Given the description of an element on the screen output the (x, y) to click on. 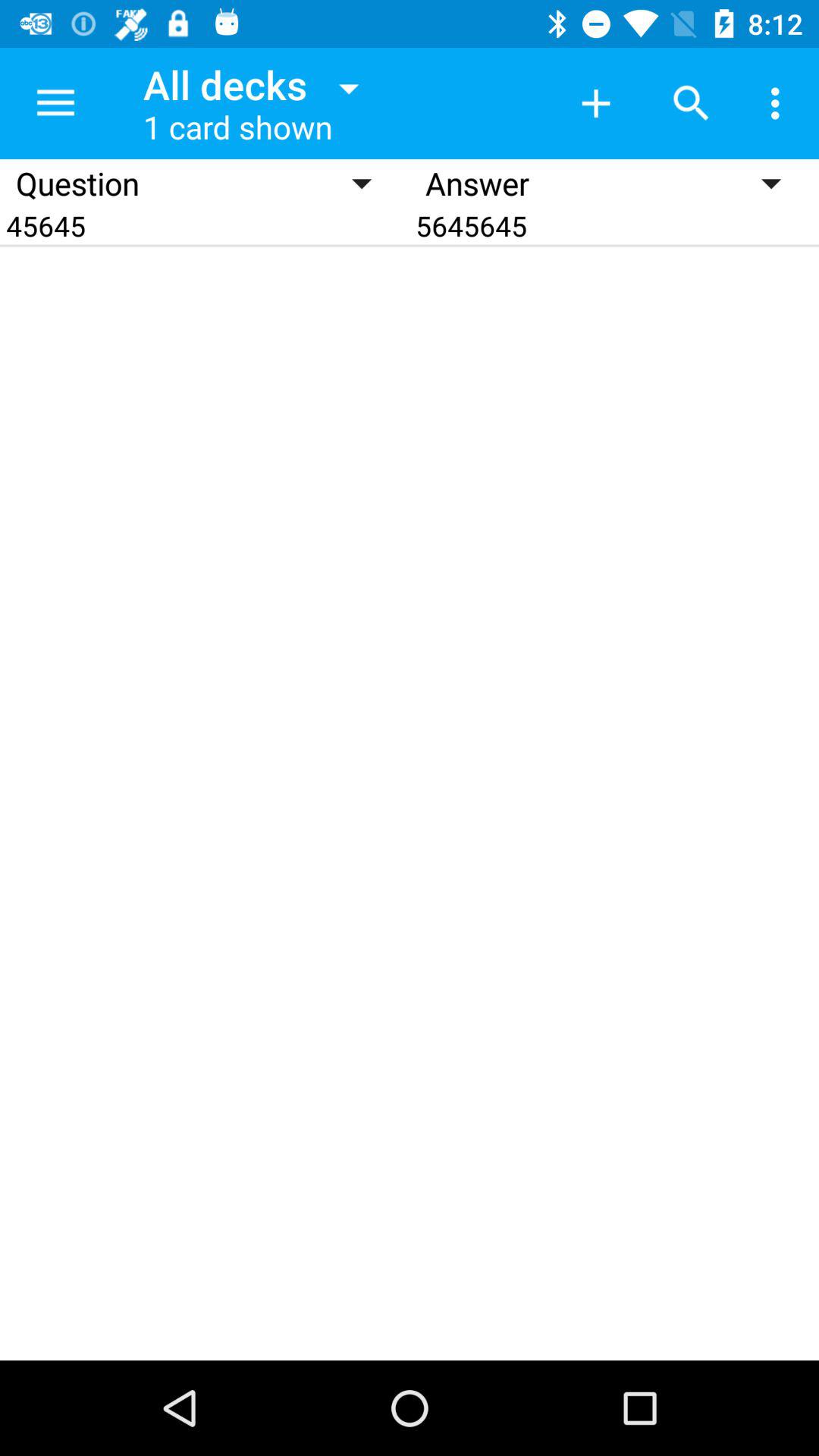
turn on the item to the right of the 45645 icon (614, 225)
